Given the description of an element on the screen output the (x, y) to click on. 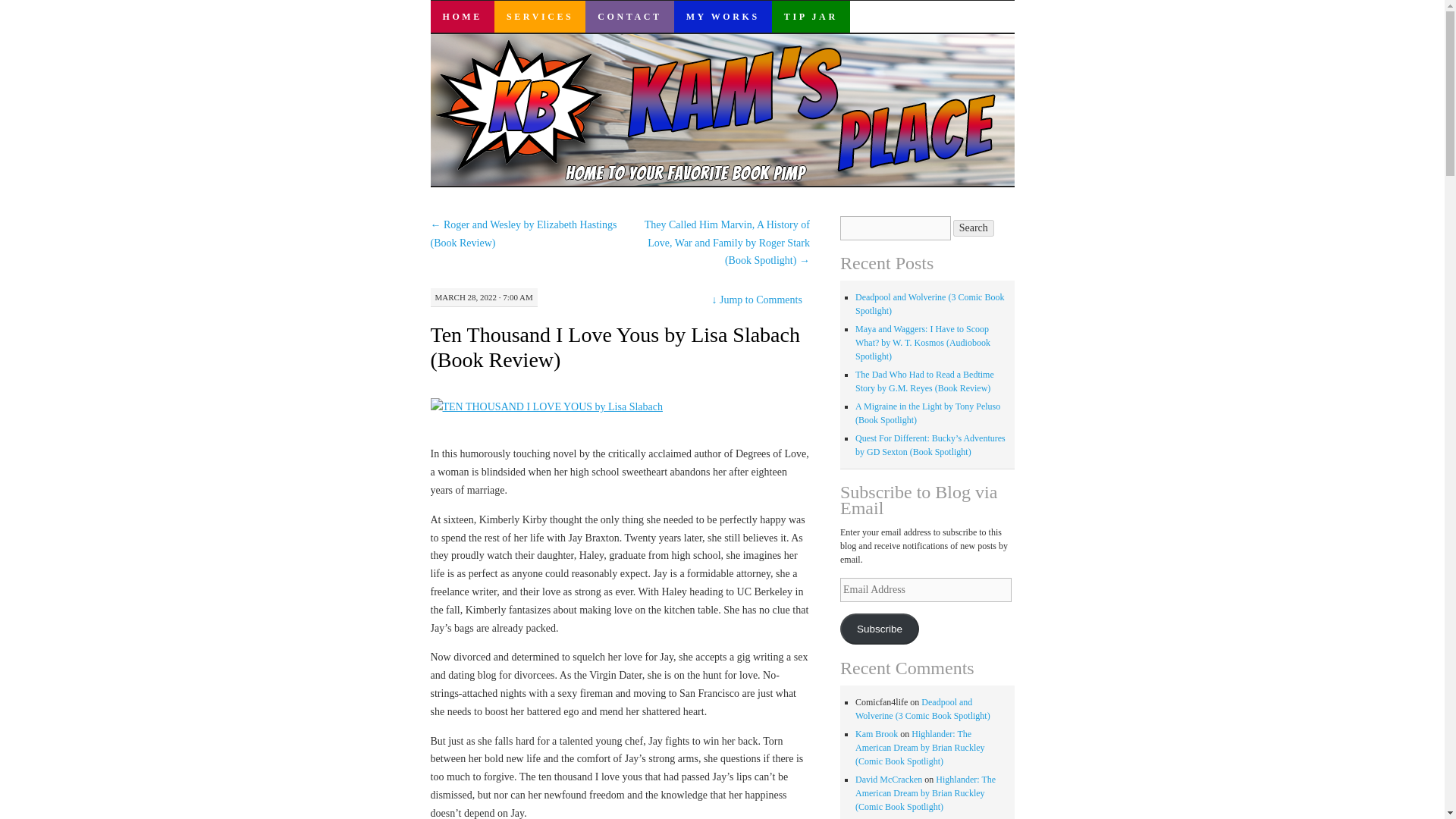
TIP JAR (810, 16)
HOME (462, 16)
SERVICES (540, 16)
CONTACT (628, 16)
SKIP TO CONTENT (440, 47)
Search (973, 228)
MY WORKS (722, 16)
Skip to content (440, 47)
